Given the description of an element on the screen output the (x, y) to click on. 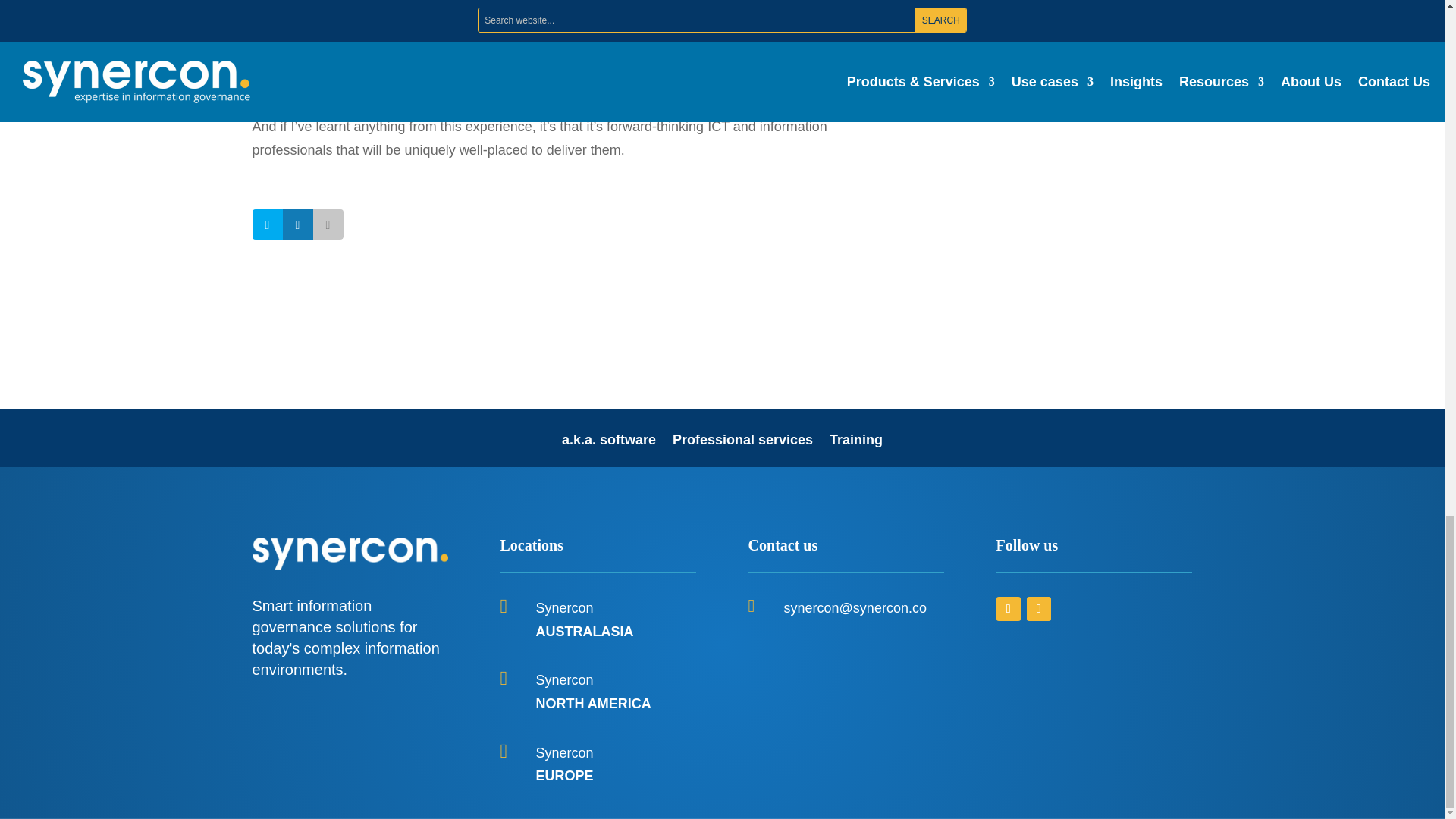
Follow on X (1007, 608)
Follow on LinkedIn (1038, 608)
